Given the description of an element on the screen output the (x, y) to click on. 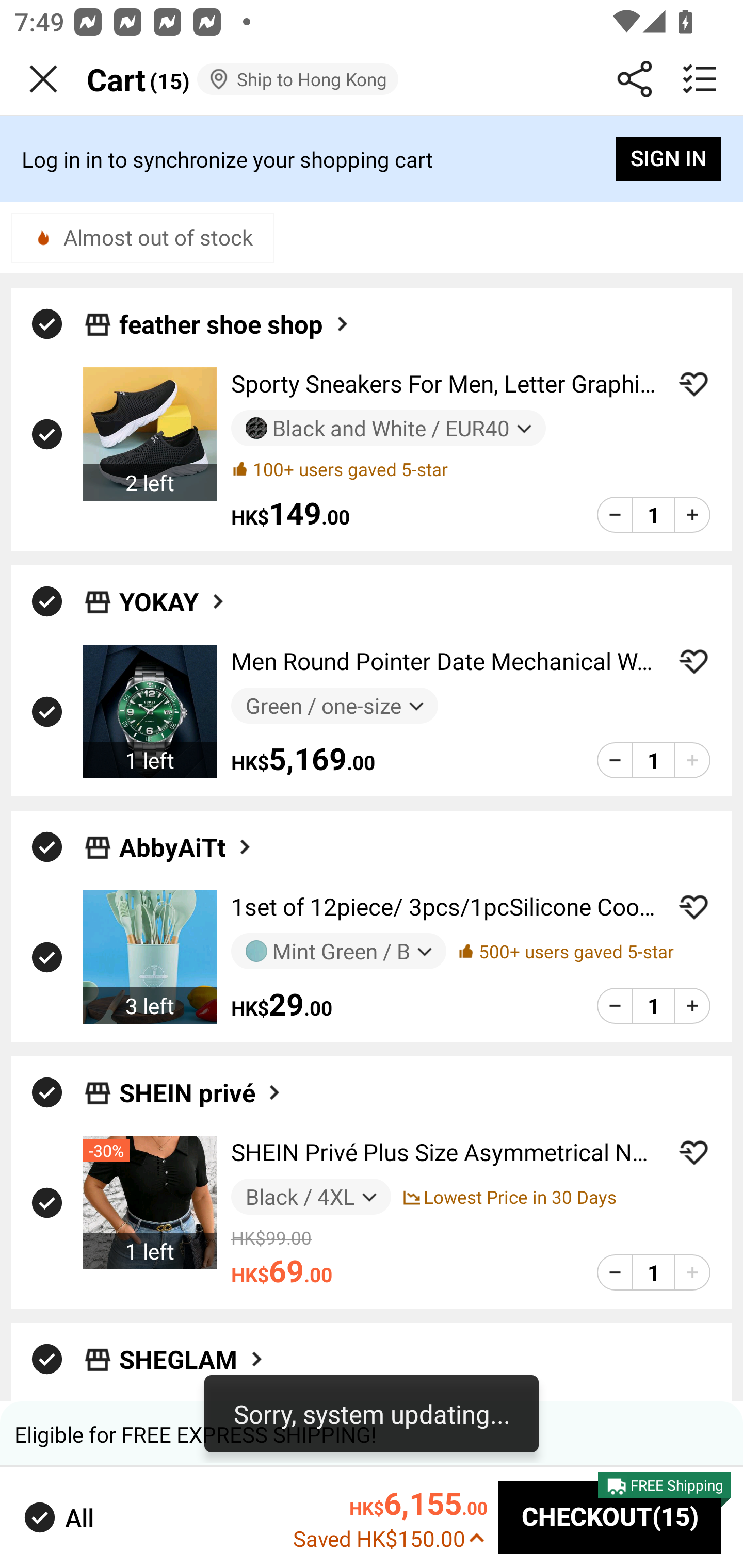
BACK (43, 78)
Share (634, 79)
batch delete (699, 79)
Ship to Hong Kong (297, 78)
SIGN IN (668, 158)
Almost out of stock (142, 237)
feather shoe shop (235, 323)
ADD TO WISHLIST (693, 383)
 Black and White / EUR40 (388, 428)
product quantity minus 1 (614, 515)
1 edit product quantity (653, 515)
product quantity add 1 (692, 515)
YOKAY (173, 600)
ADD TO WISHLIST (693, 661)
Green / one-size (334, 705)
product quantity minus 1 (614, 759)
1 edit product quantity (653, 759)
product quantity add 1 (692, 759)
AbbyAiTt (186, 846)
ADD TO WISHLIST (693, 906)
 Mint Green / B (338, 950)
product quantity minus 1 (614, 1005)
1 edit product quantity (653, 1005)
product quantity add 1 (692, 1005)
SHEIN privé (201, 1092)
ADD TO WISHLIST (693, 1152)
Black / 4XL (310, 1197)
product quantity minus 1 (614, 1272)
1 edit product quantity (653, 1272)
product quantity add 1 (692, 1272)
SHEGLAM (192, 1359)
CHECKOUT(15) (609, 1517)
HK$6,155.00 Saved HK$150.00 (389, 1516)
All (57, 1517)
